Given the description of an element on the screen output the (x, y) to click on. 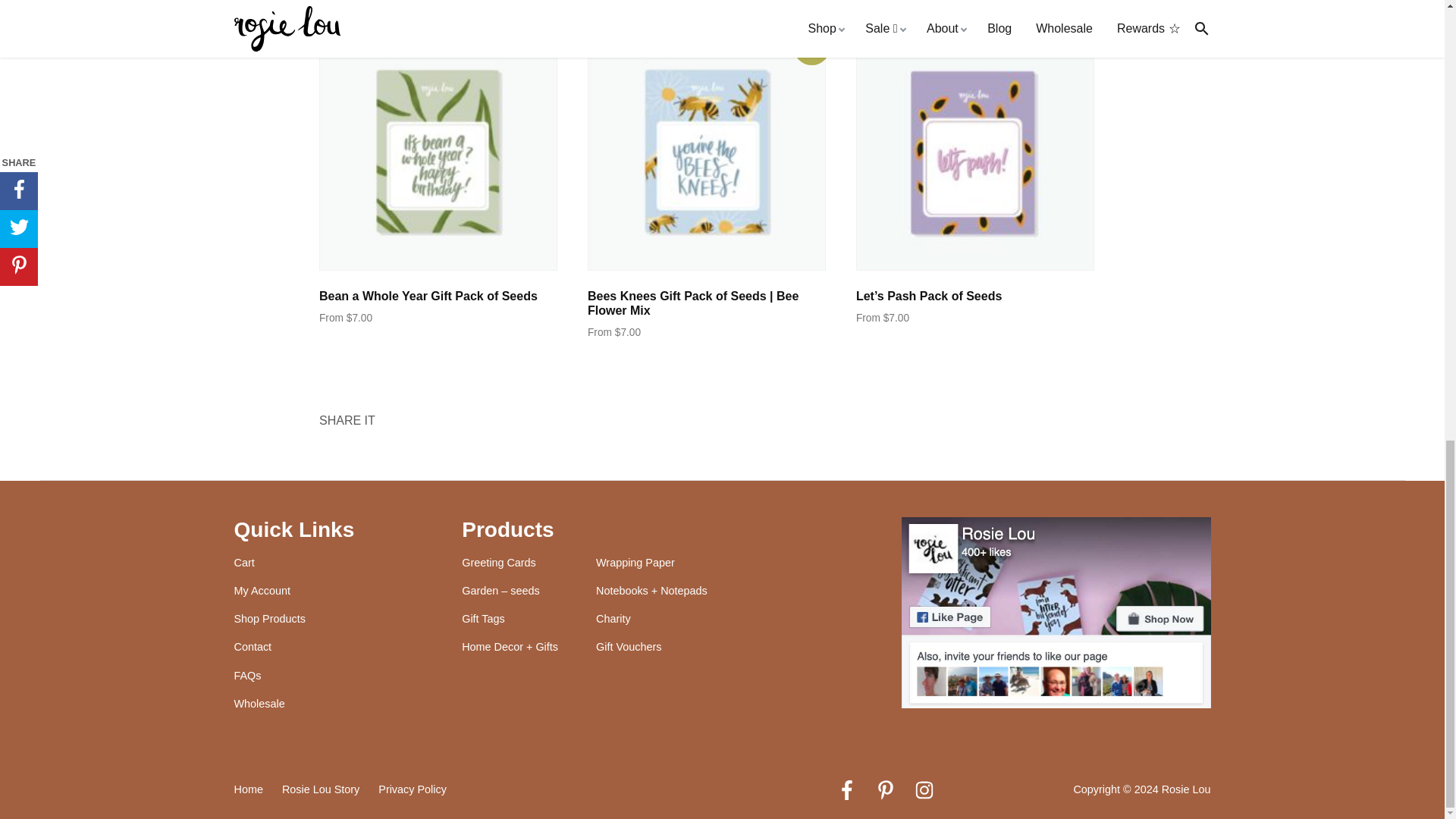
Go to Rosie Lou on Pinterest (884, 793)
Go to Rosie Lou on Facebook (846, 793)
Go to Rosie Lou on Instagram (924, 793)
